Given the description of an element on the screen output the (x, y) to click on. 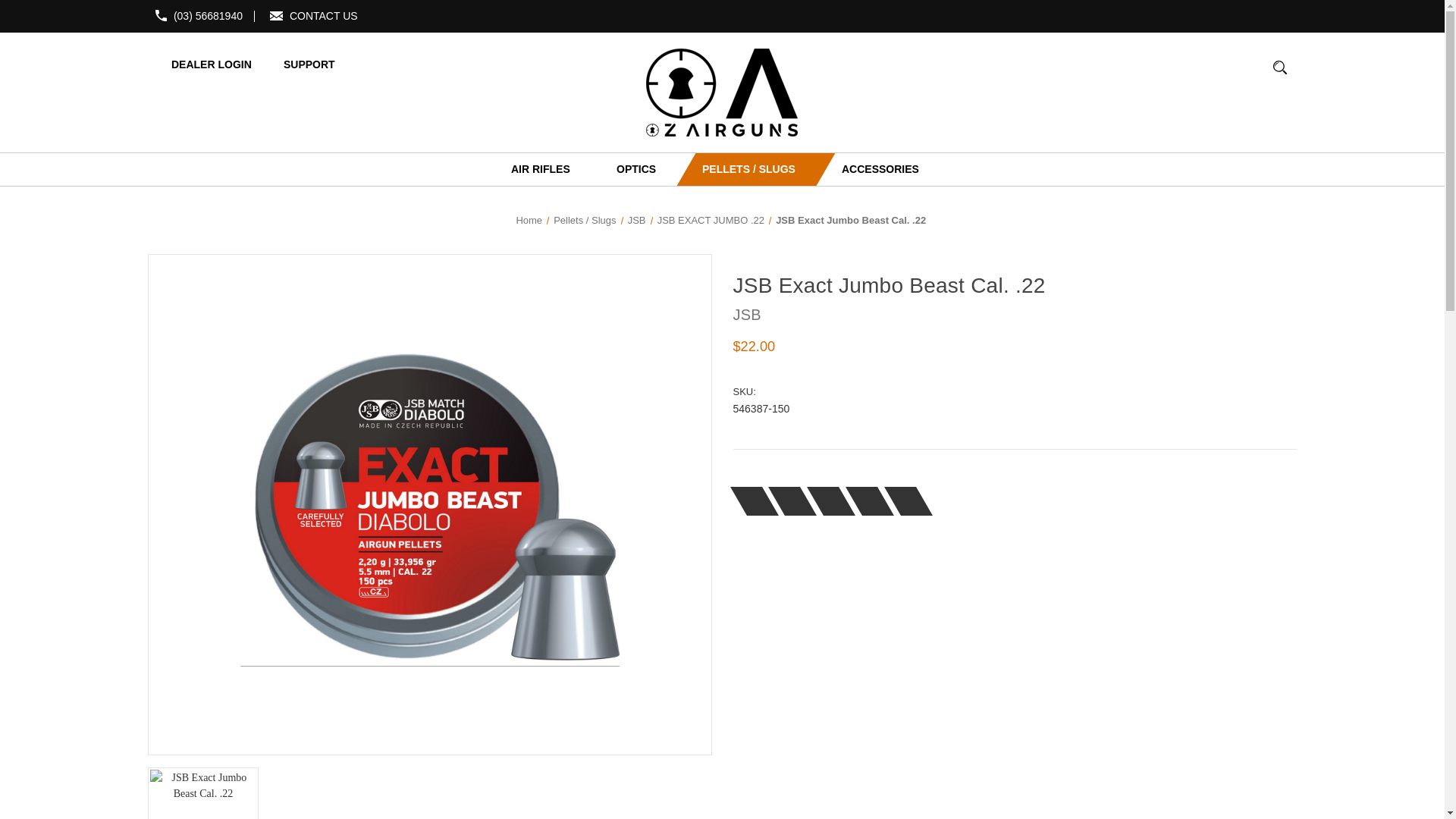
CONTACT US (323, 15)
SUPPORT (298, 64)
OZ AIRGUNS (721, 92)
MAGNIFYING GLASS IMAGE LARGE RED CIRCLE WITH A BLACK BORDER (1279, 67)
DEALER LOGIN (203, 64)
AIR RIFLES (538, 169)
MAGNIFYING GLASS IMAGE LARGE RED CIRCLE WITH A BLACK BORDER (1279, 74)
